Given the description of an element on the screen output the (x, y) to click on. 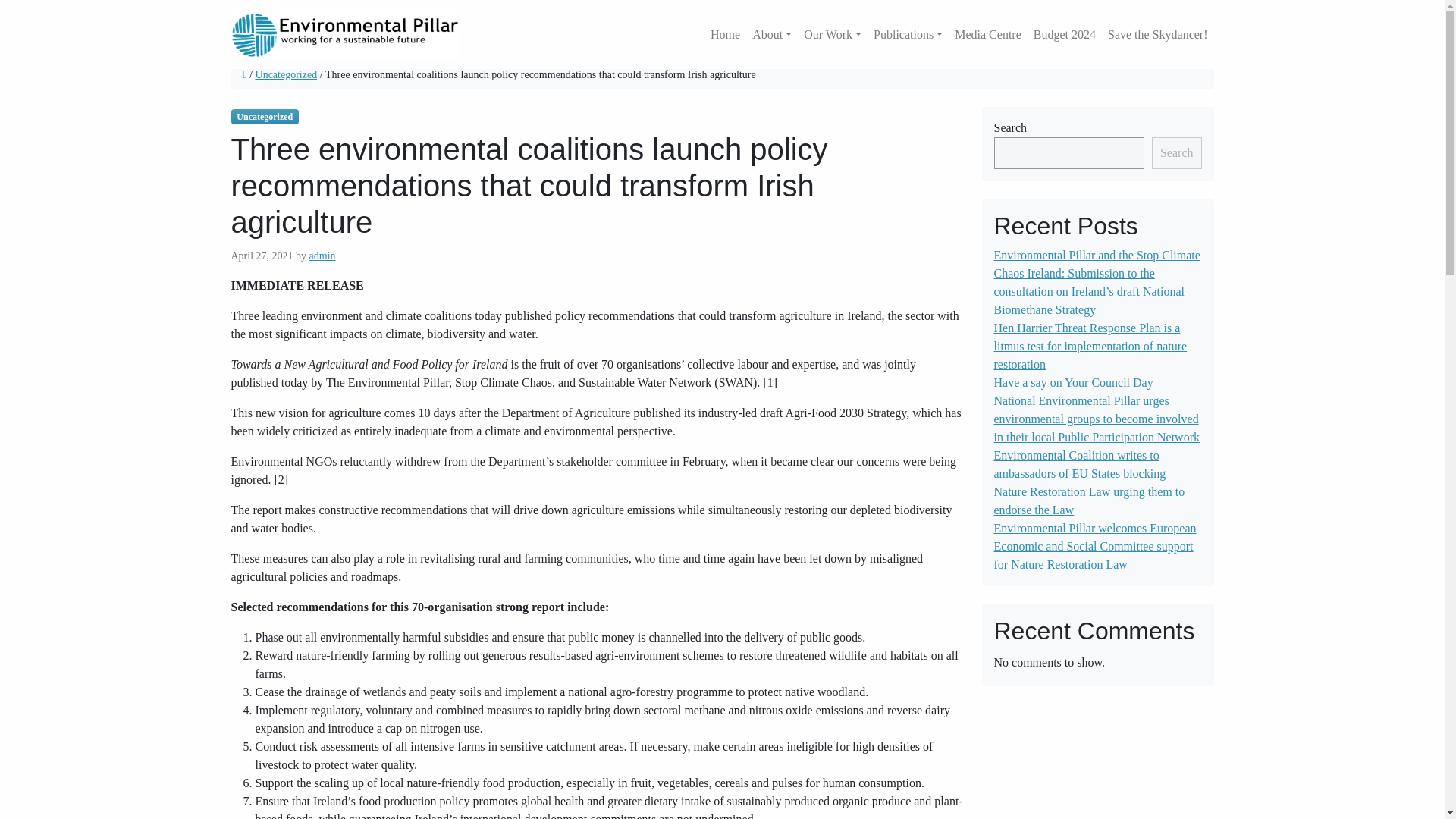
Search (1176, 152)
Save the Skydancer! (1155, 34)
Publications (908, 34)
Uncategorized (286, 74)
admin (322, 255)
Budget 2024 (1064, 34)
Home (724, 34)
About (771, 34)
Uncategorized (264, 116)
